Given the description of an element on the screen output the (x, y) to click on. 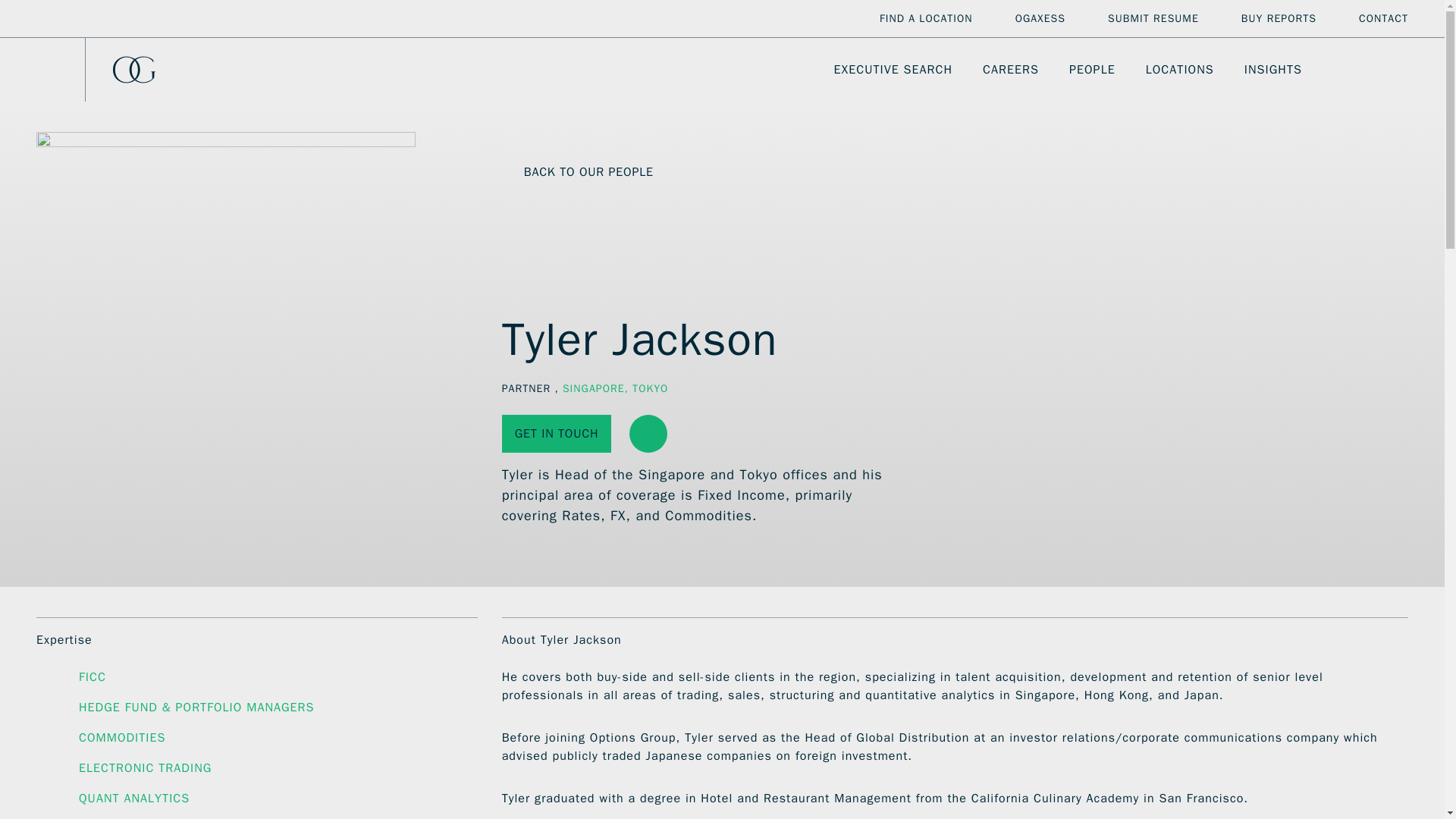
Search this site (1346, 69)
BUY REPORTS (1278, 18)
CAREERS (1010, 69)
Go to your account (1372, 69)
PEOPLE (1091, 69)
Go to your cart (1400, 69)
LOCATIONS (1179, 69)
FIND A LOCATION (925, 18)
Go to the homepage (146, 69)
EXECUTIVE SEARCH (893, 69)
SUBMIT RESUME (1153, 18)
CONTACT (1382, 18)
OGAXESS (1039, 18)
INSIGHTS (1272, 69)
